Given the description of an element on the screen output the (x, y) to click on. 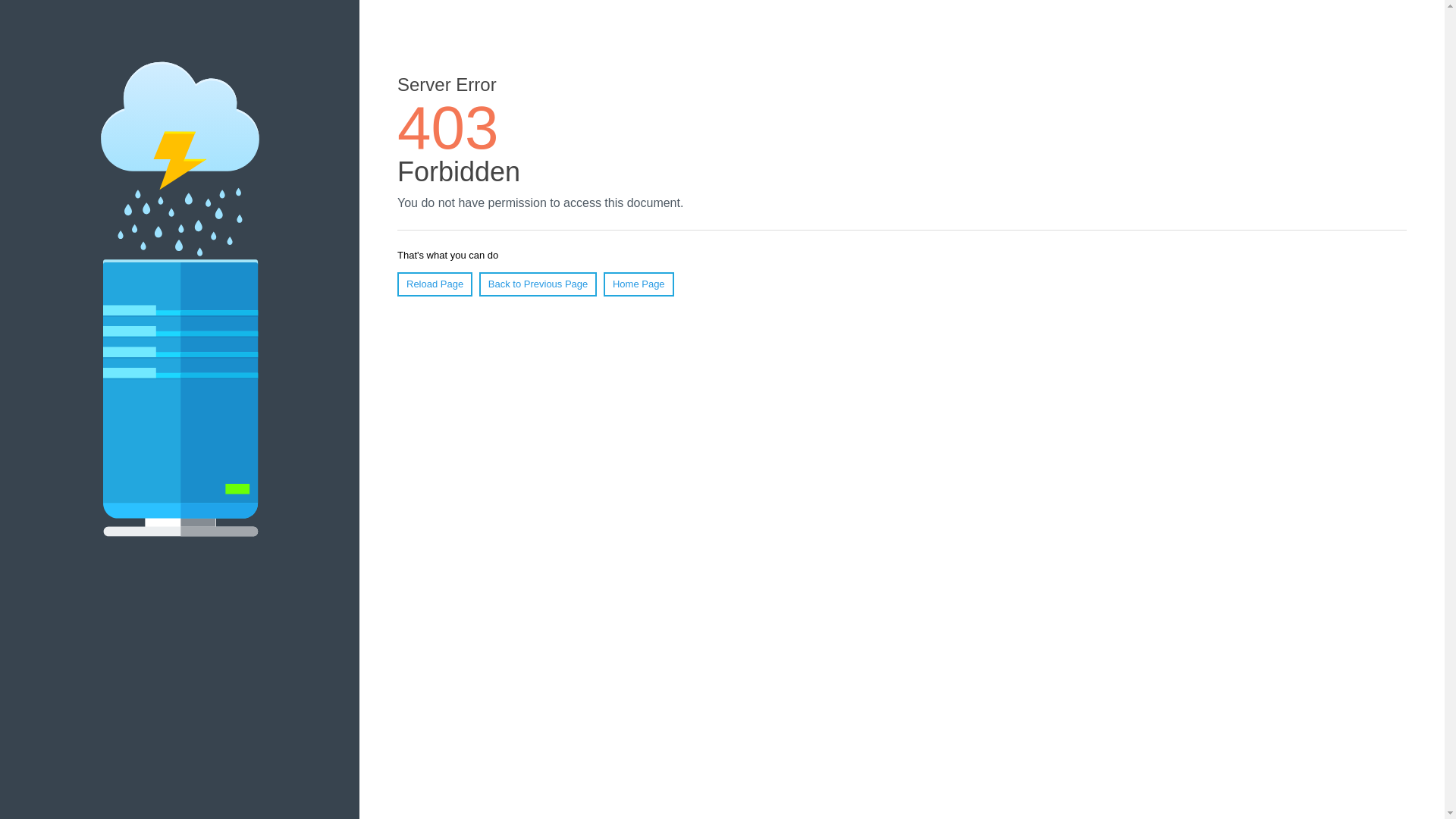
Back to Previous Page (537, 283)
Reload Page (434, 283)
Home Page (639, 283)
